Given the description of an element on the screen output the (x, y) to click on. 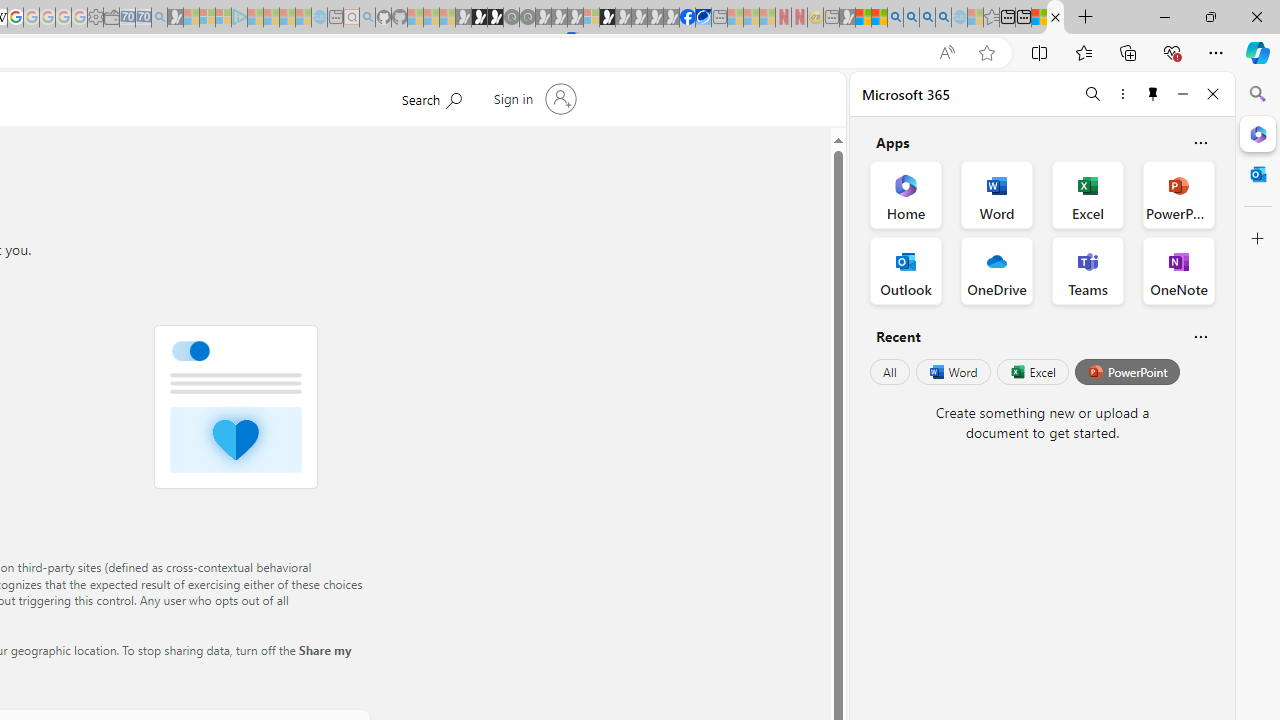
PowerPoint (1127, 372)
OneDrive Office App (996, 270)
Microsoft Start Gaming - Sleeping (175, 17)
Cheap Car Rentals - Save70.com - Sleeping (143, 17)
